Given the description of an element on the screen output the (x, y) to click on. 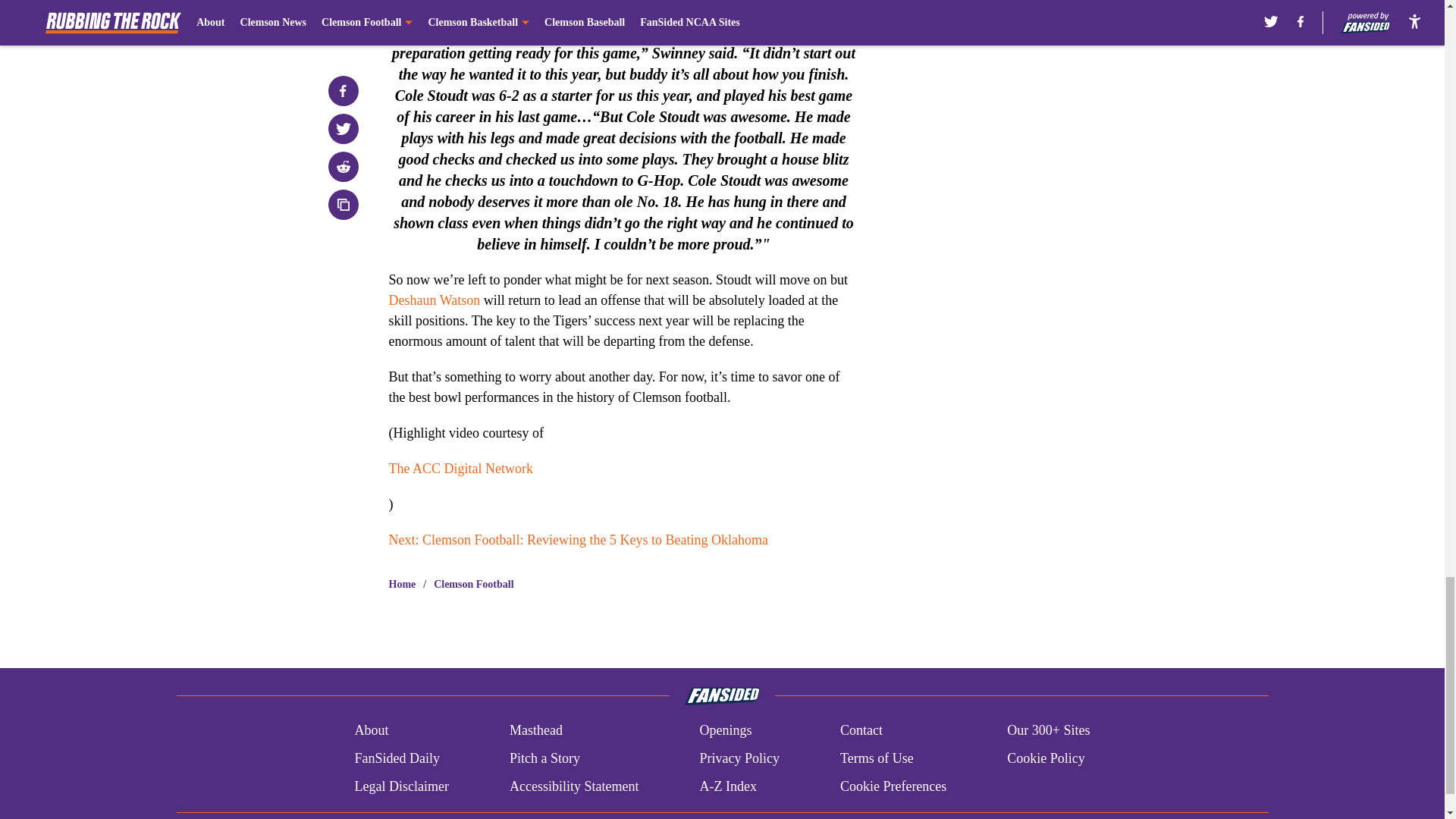
Clemson Football (473, 584)
Contact (861, 730)
Deshaun Watson (434, 299)
The ACC Digital Network (460, 468)
Home (401, 584)
About (370, 730)
Masthead (535, 730)
Openings (724, 730)
FanSided Daily (396, 758)
